Given the description of an element on the screen output the (x, y) to click on. 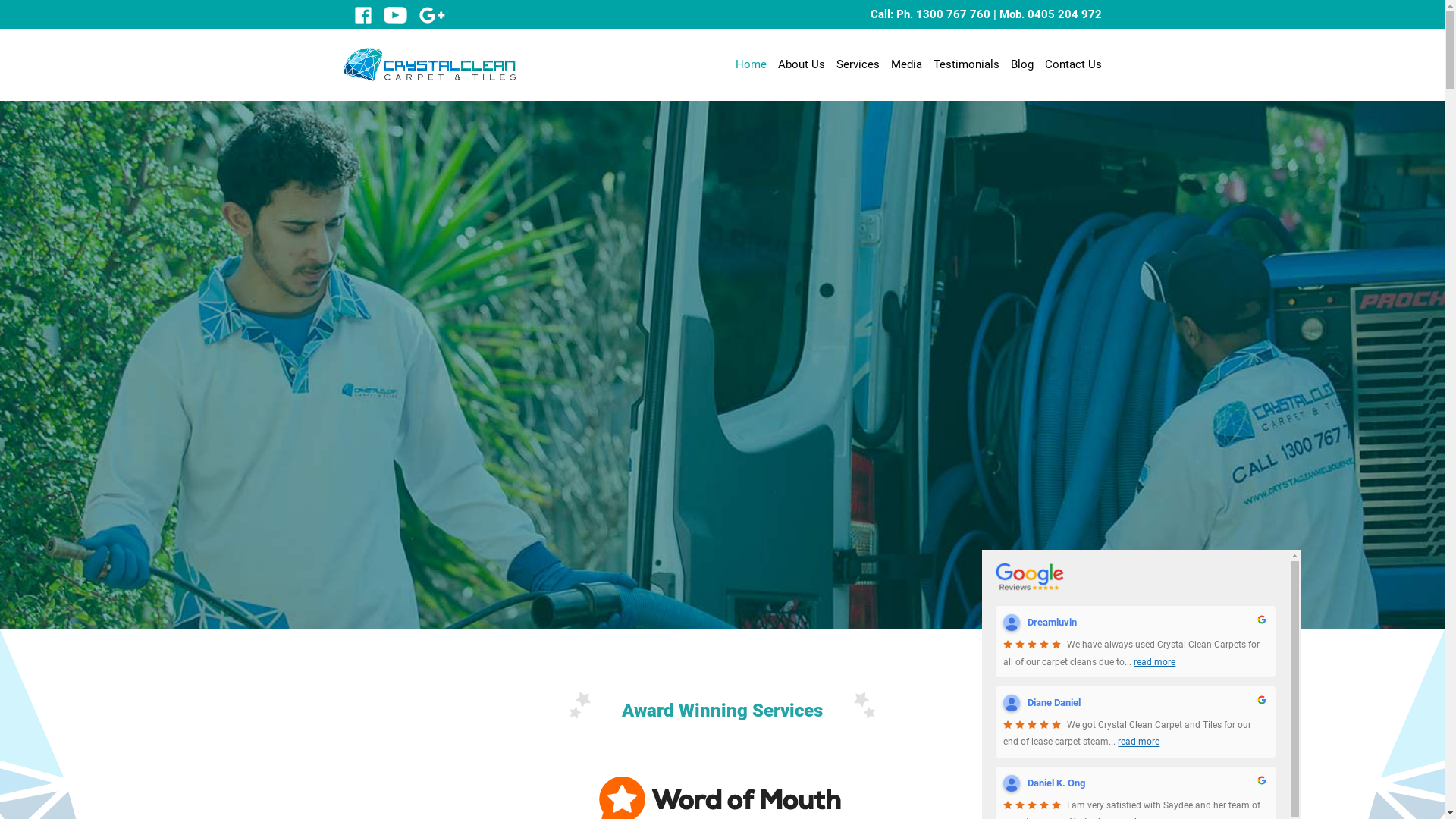
Media Element type: text (905, 64)
Testimonials Element type: text (965, 64)
0405 204 972 Element type: text (1063, 14)
Home Element type: text (750, 64)
Daniel K. Ong Element type: hover (1011, 783)
Contact Us Element type: text (1072, 64)
1300 767 760 Element type: text (953, 14)
Blog Element type: text (1021, 64)
About Us Element type: text (801, 64)
Services Element type: text (856, 64)
Dreamluvin Element type: hover (1011, 622)
Diane Daniel Element type: hover (1011, 702)
